Given the description of an element on the screen output the (x, y) to click on. 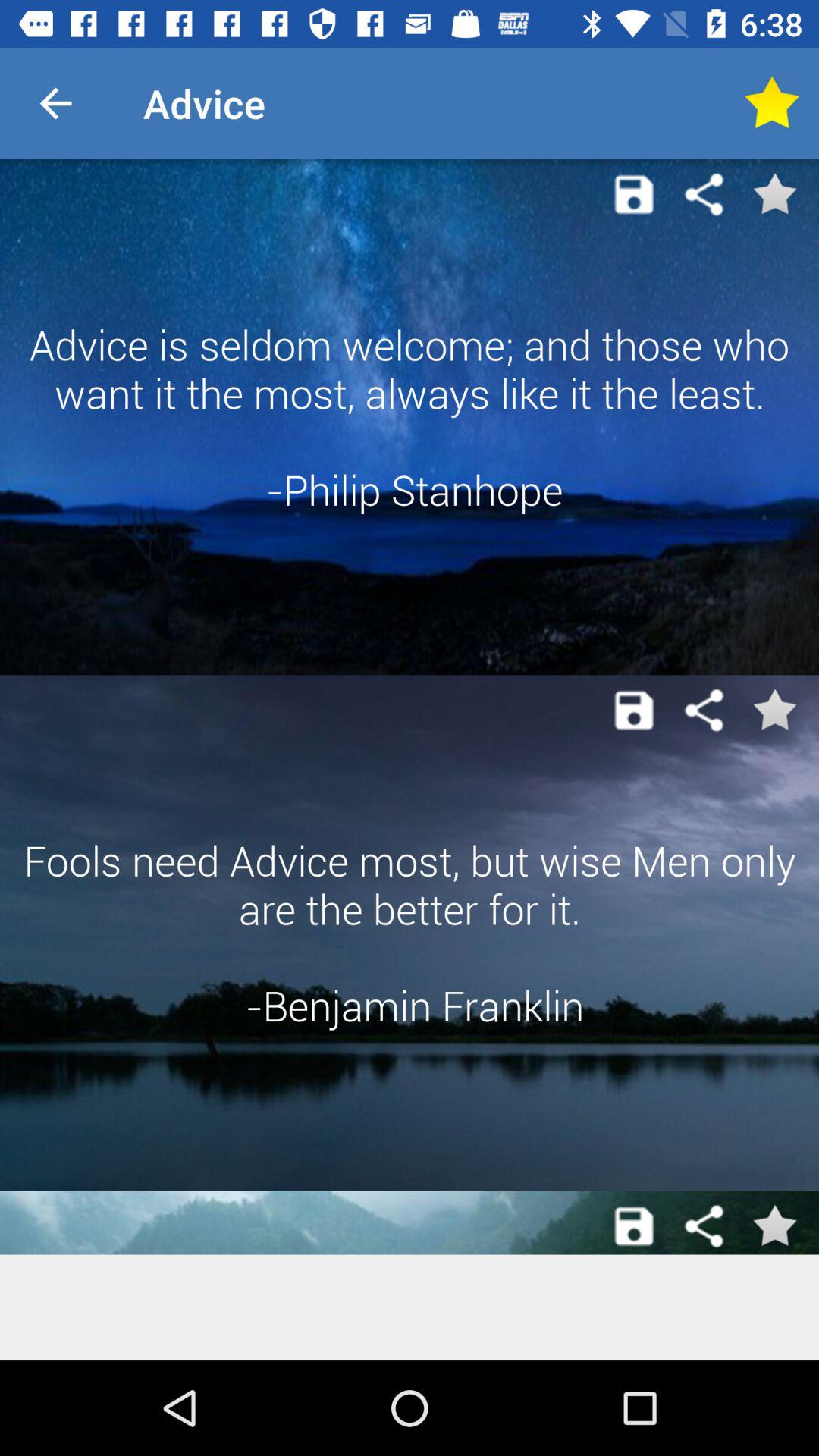
save quote (634, 710)
